Given the description of an element on the screen output the (x, y) to click on. 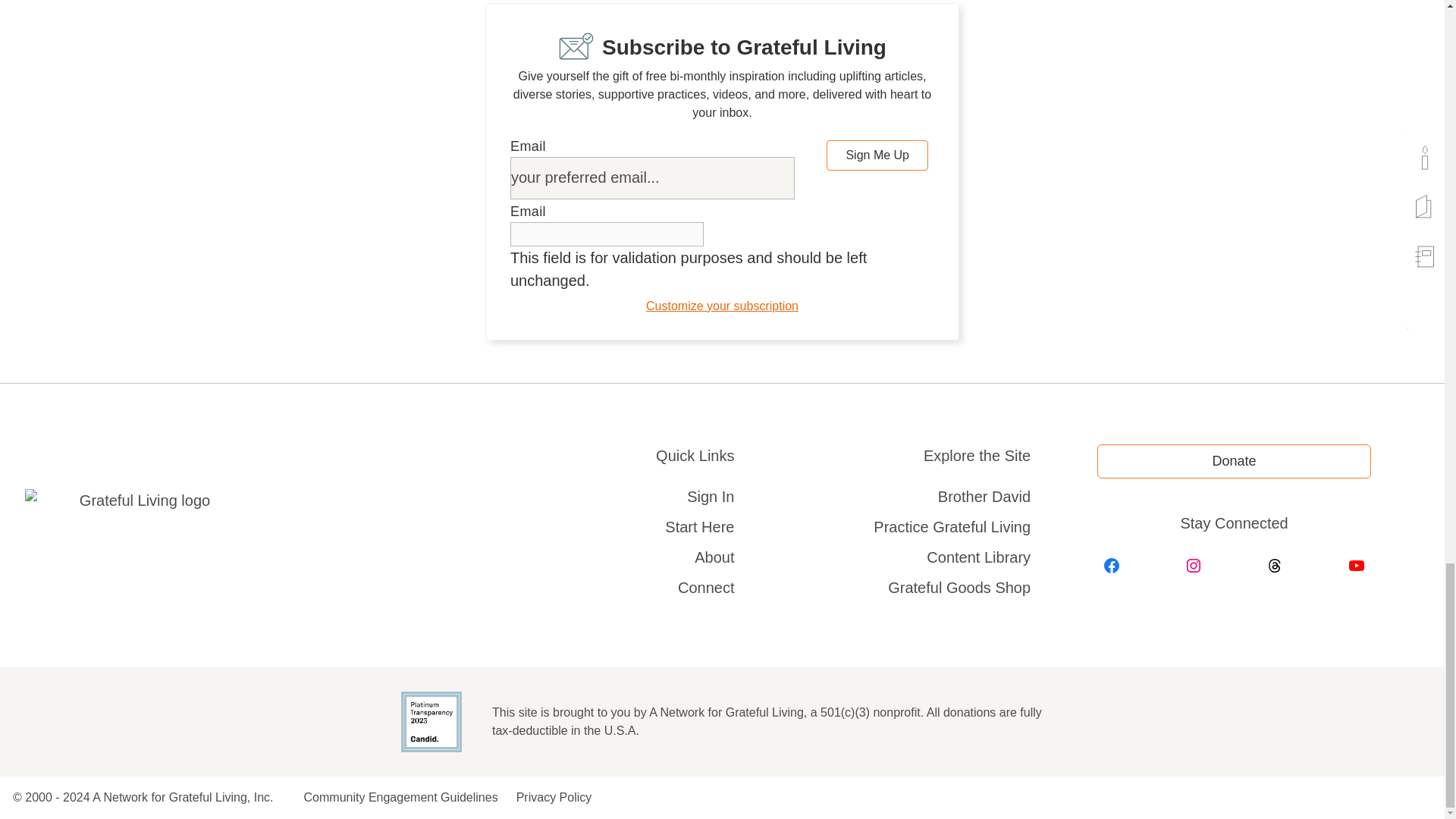
About (713, 556)
Brother David (969, 496)
Connect (706, 587)
Sign In (710, 496)
Start Here (699, 526)
Sign Me Up (877, 155)
Sign Me Up (877, 155)
Customize your subscription (721, 305)
